Given the description of an element on the screen output the (x, y) to click on. 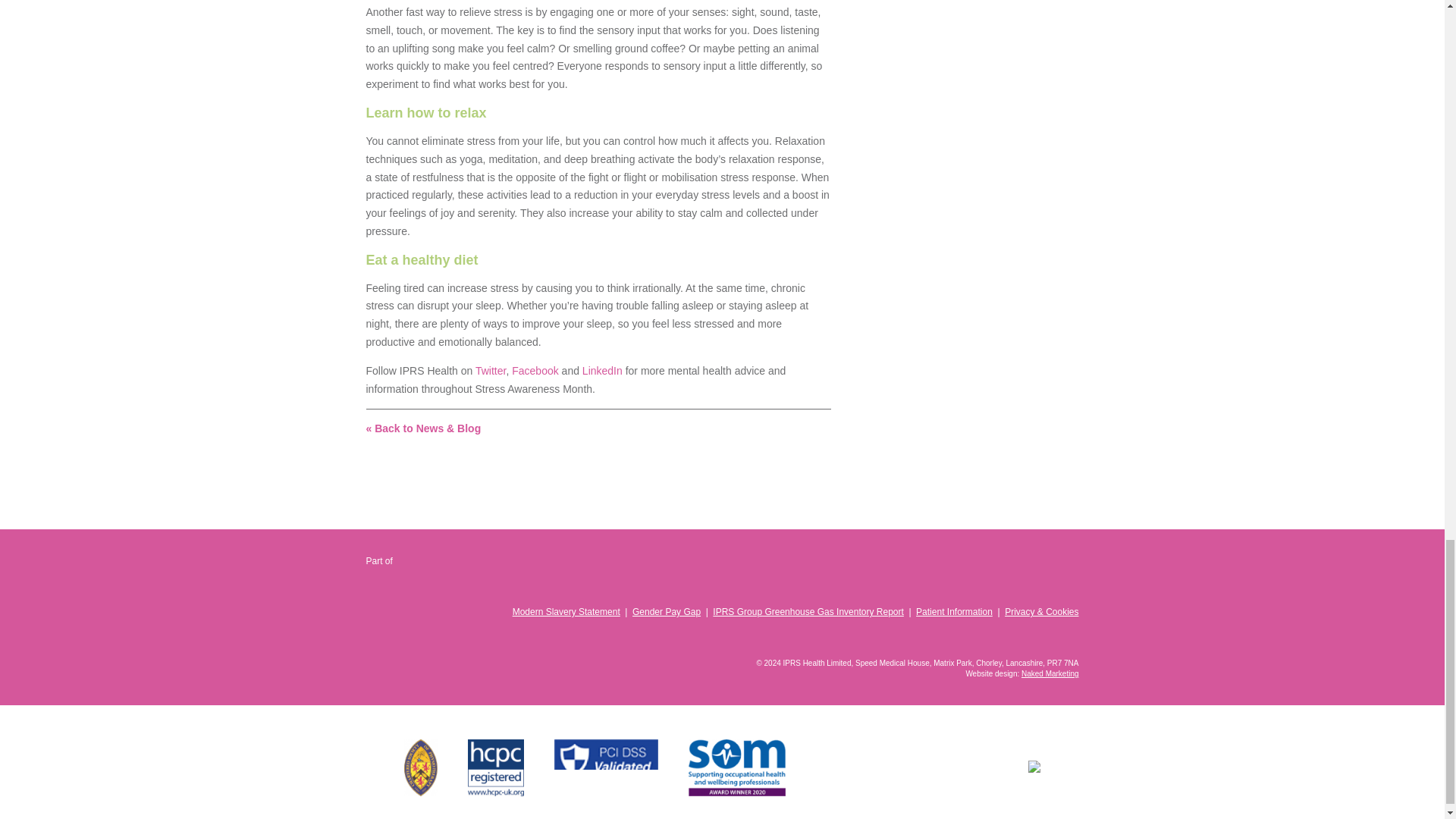
Facebook (1043, 637)
Gender Pay Gap (665, 611)
IPRS Group Greenhouse Gas Inventory Report (807, 611)
Twitter (490, 370)
IPRS Group (447, 581)
LinkedIn (602, 370)
Facebook (534, 370)
Modern Slavery Statement (566, 611)
Twitter (1067, 637)
Patient Information (953, 611)
Naked Marketing (1050, 673)
LinkedIn (1017, 637)
